Given the description of an element on the screen output the (x, y) to click on. 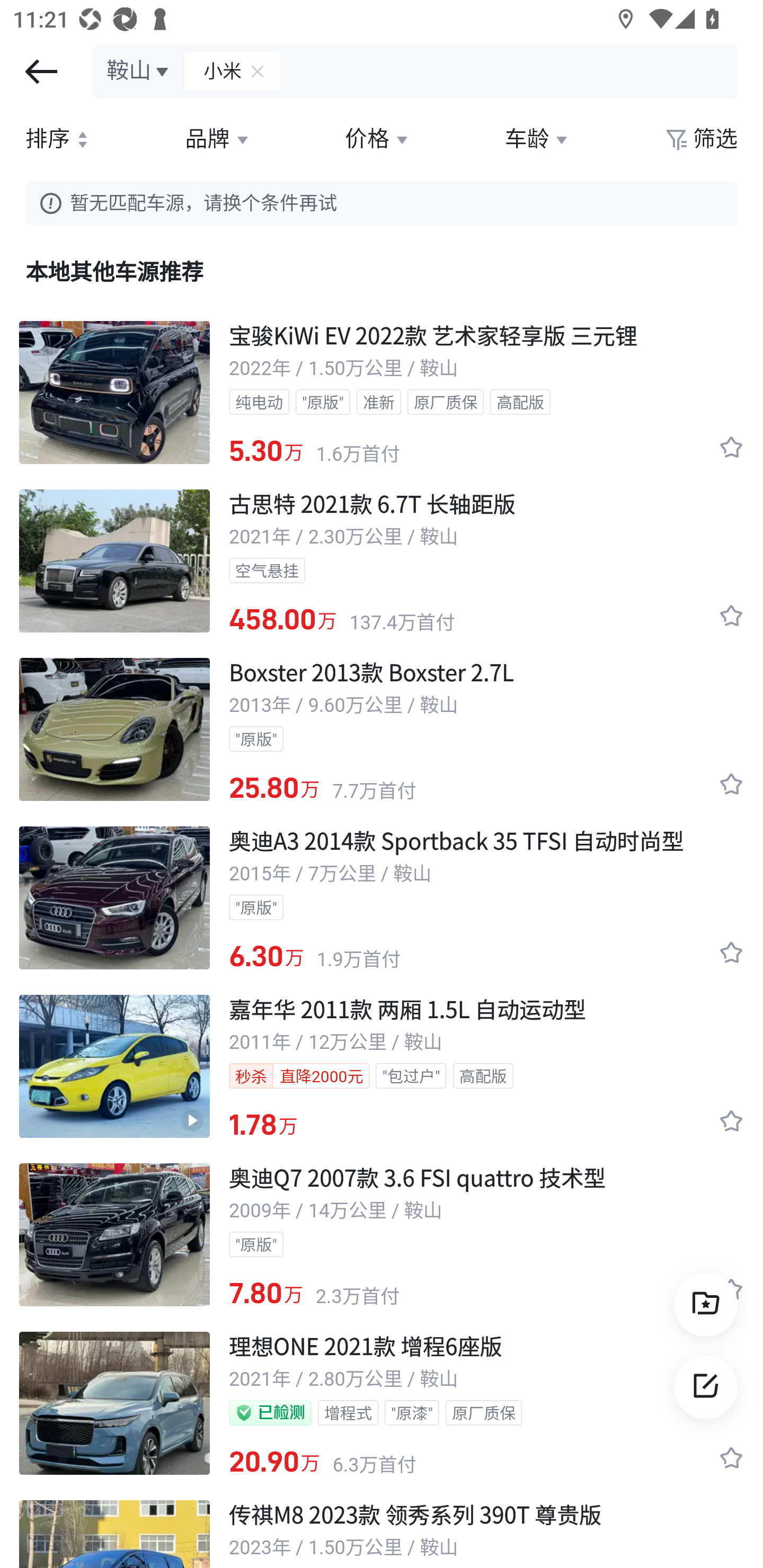
鞍山 (139, 70)
小米 (213, 70)
排序 (59, 139)
品牌 (218, 139)
价格 (377, 139)
车龄 (537, 139)
筛选 (700, 139)
